Given the description of an element on the screen output the (x, y) to click on. 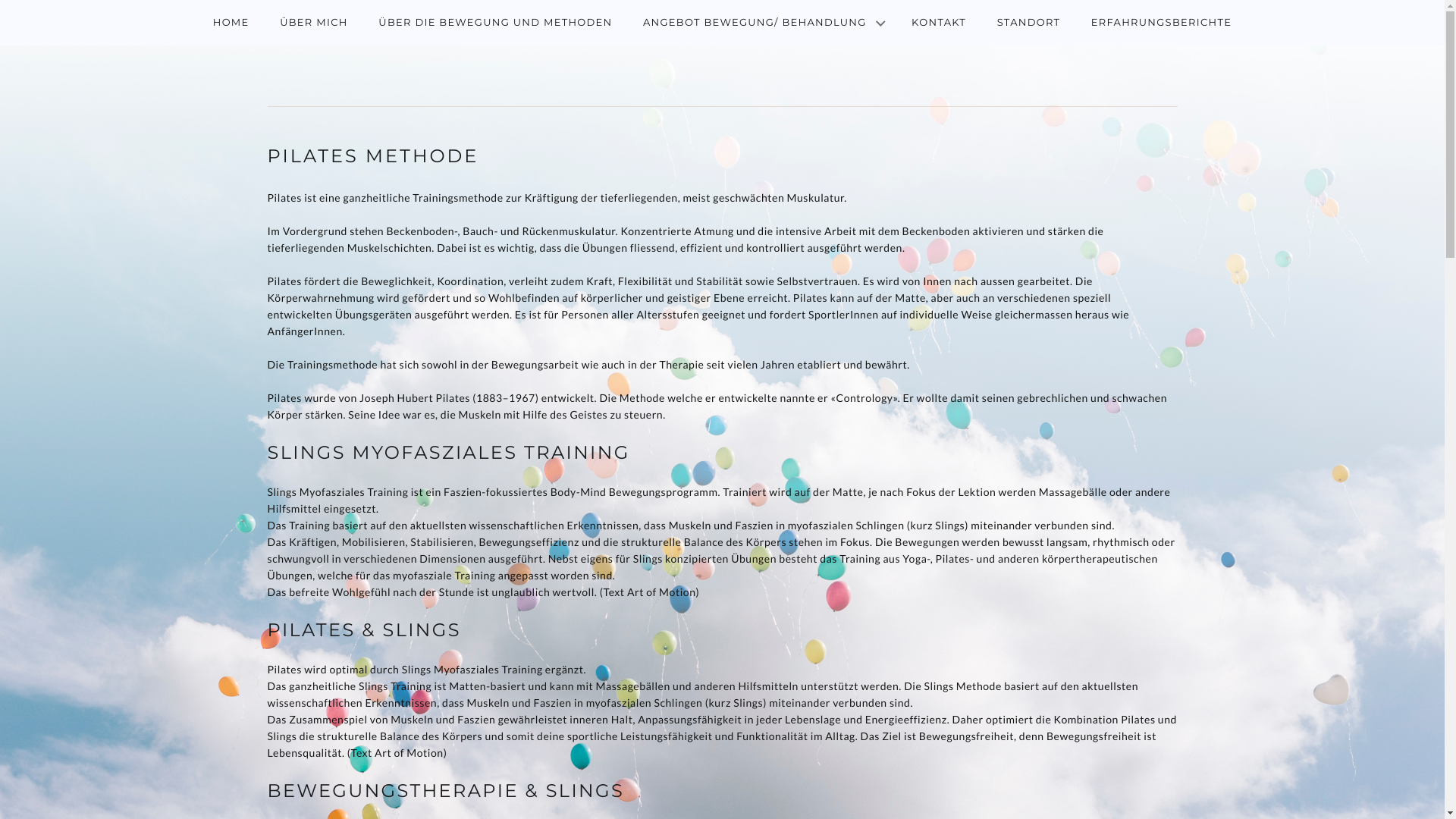
ERFAHRUNGSBERICHTE Element type: text (1161, 22)
KONTAKT Element type: text (938, 22)
STANDORT Element type: text (1029, 22)
HOME Element type: text (230, 22)
